Given the description of an element on the screen output the (x, y) to click on. 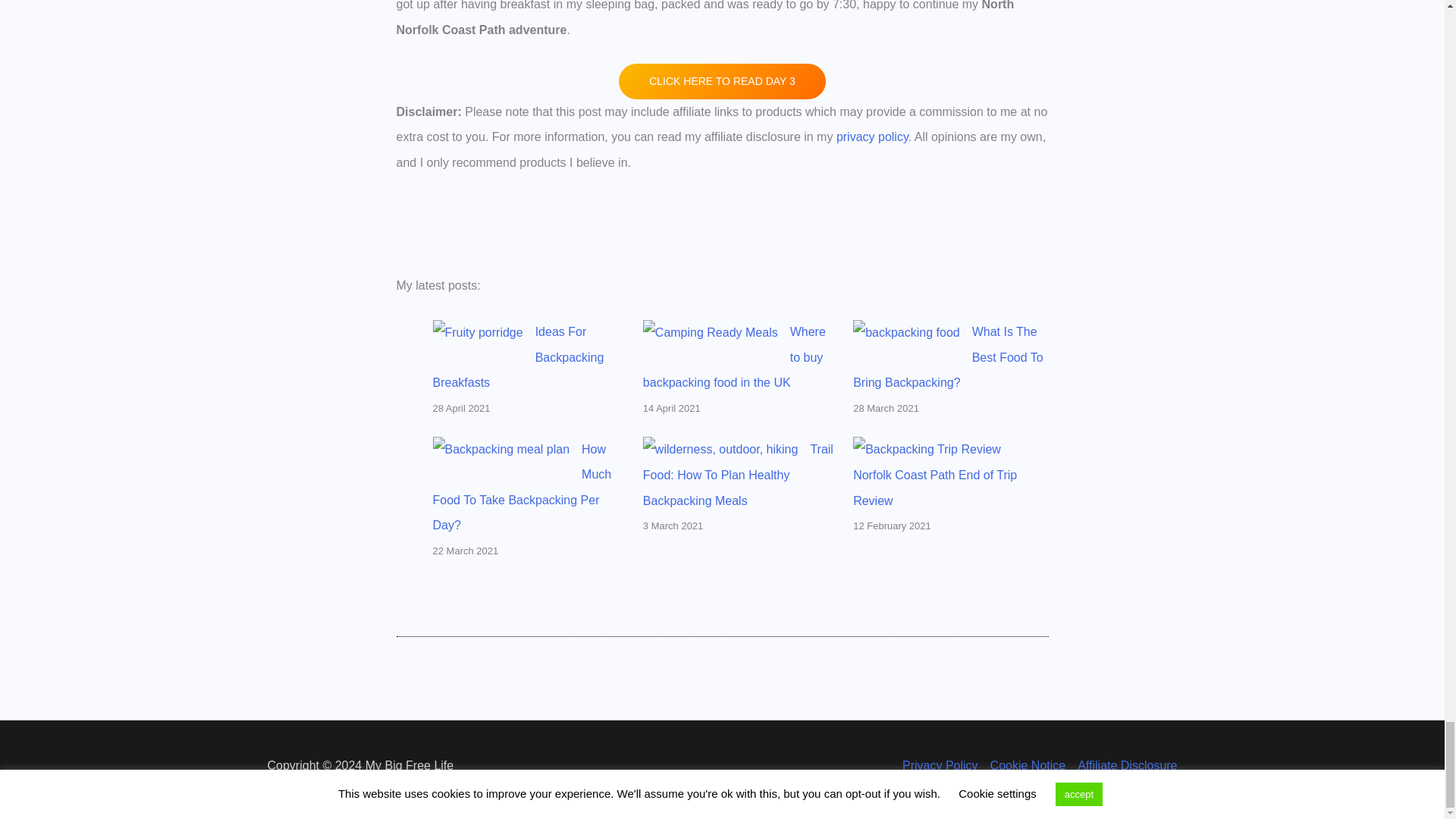
Norfolk Coast Path End of Trip Review (934, 487)
Affiliate Disclosure (1123, 765)
privacy policy (871, 136)
Cookie Notice (1027, 765)
Ideas For Backpacking Breakfasts (518, 357)
Trail Food: How To Plan Healthy Backpacking Meals (737, 474)
Privacy Policy (943, 765)
CLICK HERE TO READ DAY 3 (721, 81)
How Much Food To Take Backpacking Per Day? (521, 487)
What Is The Best Food To Bring Backpacking? (948, 357)
